Given the description of an element on the screen output the (x, y) to click on. 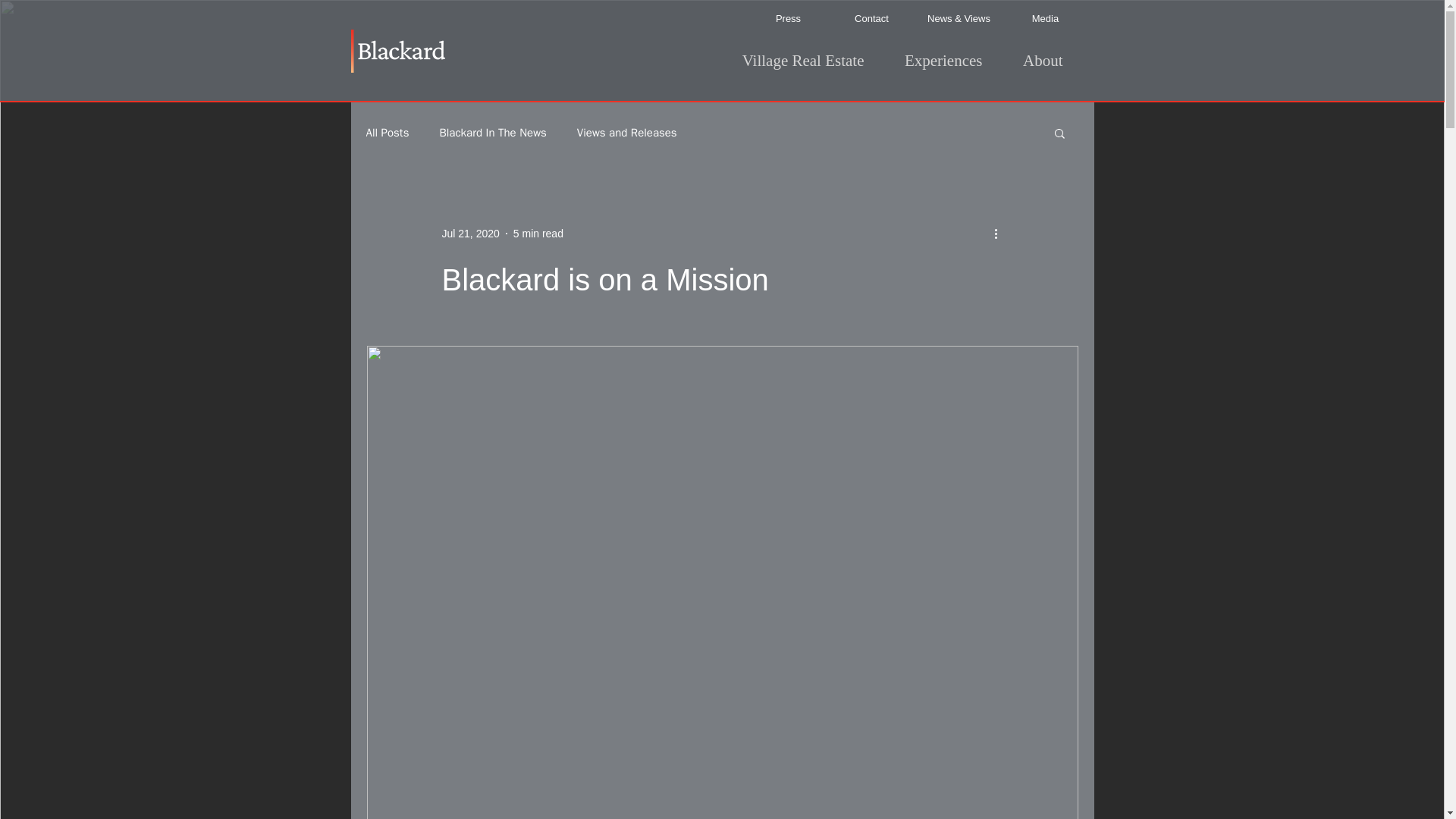
About (1033, 57)
Village Real Estate (794, 57)
Views and Releases (626, 133)
Media (1045, 19)
5 min read (538, 233)
All Posts (387, 133)
Experiences (933, 57)
Press (787, 19)
Contact (870, 19)
Jul 21, 2020 (470, 233)
Blackard In The News (492, 133)
